Given the description of an element on the screen output the (x, y) to click on. 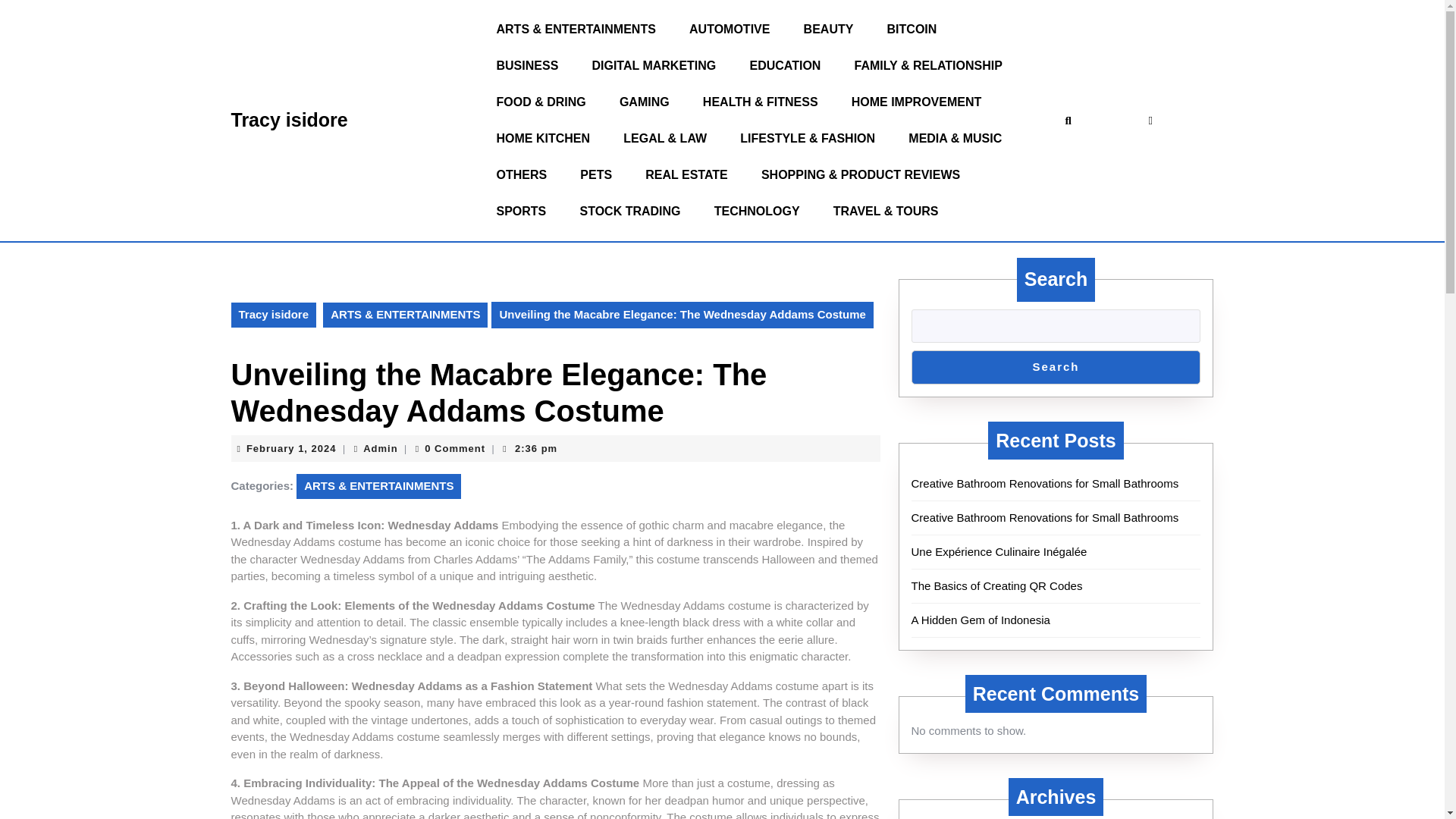
EDUCATION (784, 65)
DIGITAL MARKETING (653, 65)
OTHERS (521, 175)
PETS (595, 175)
BEAUTY (291, 448)
HOME KITCHEN (829, 29)
REAL ESTATE (542, 138)
BITCOIN (686, 175)
SPORTS (912, 29)
BUSINESS (520, 211)
STOCK TRADING (526, 65)
GAMING (629, 211)
TECHNOLOGY (379, 448)
